Given the description of an element on the screen output the (x, y) to click on. 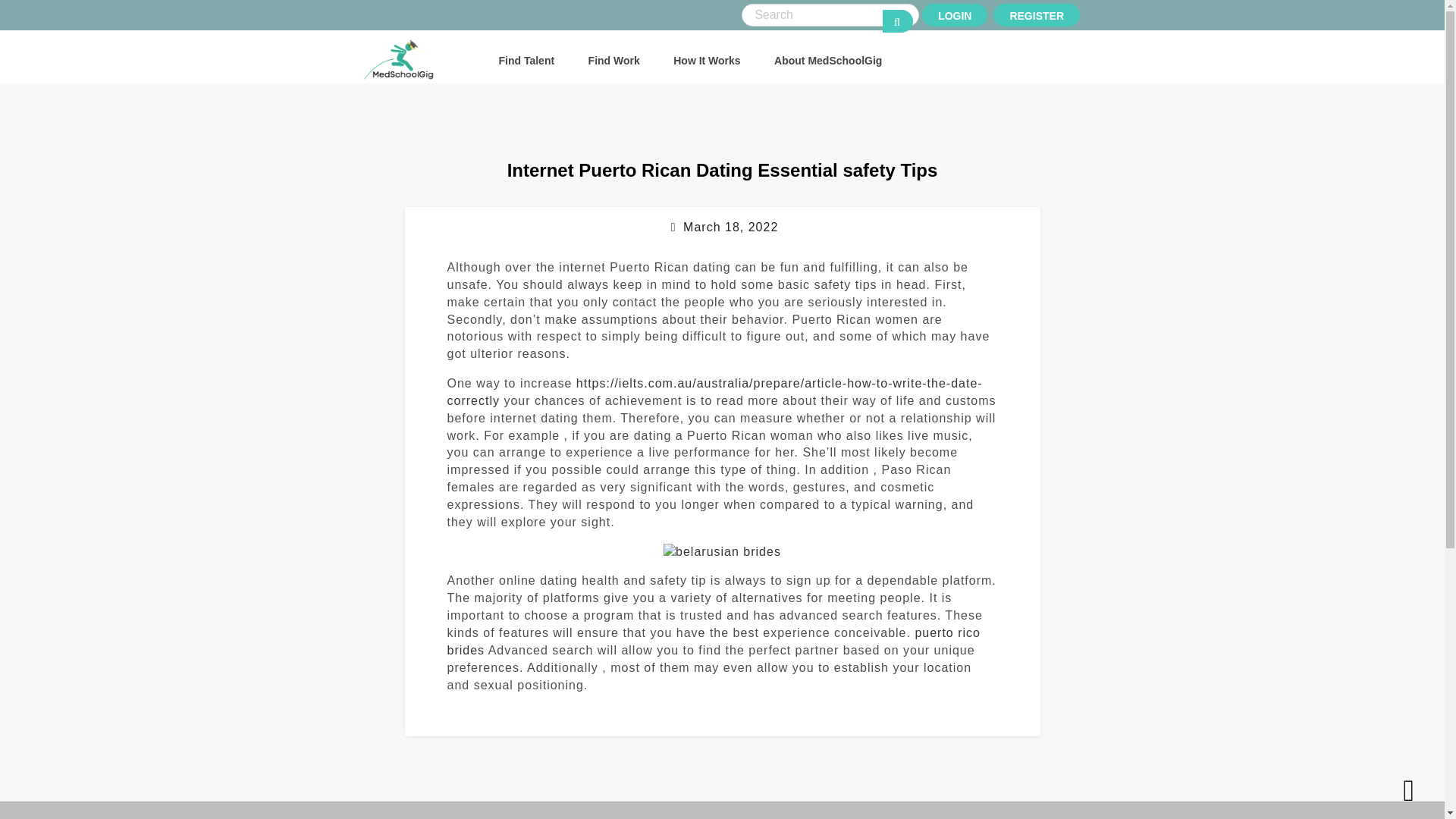
About MedSchoolGig (828, 60)
Find Talent (526, 60)
LOGIN (954, 15)
How It Works (705, 60)
Find Work (614, 60)
REGISTER (1036, 15)
